Given the description of an element on the screen output the (x, y) to click on. 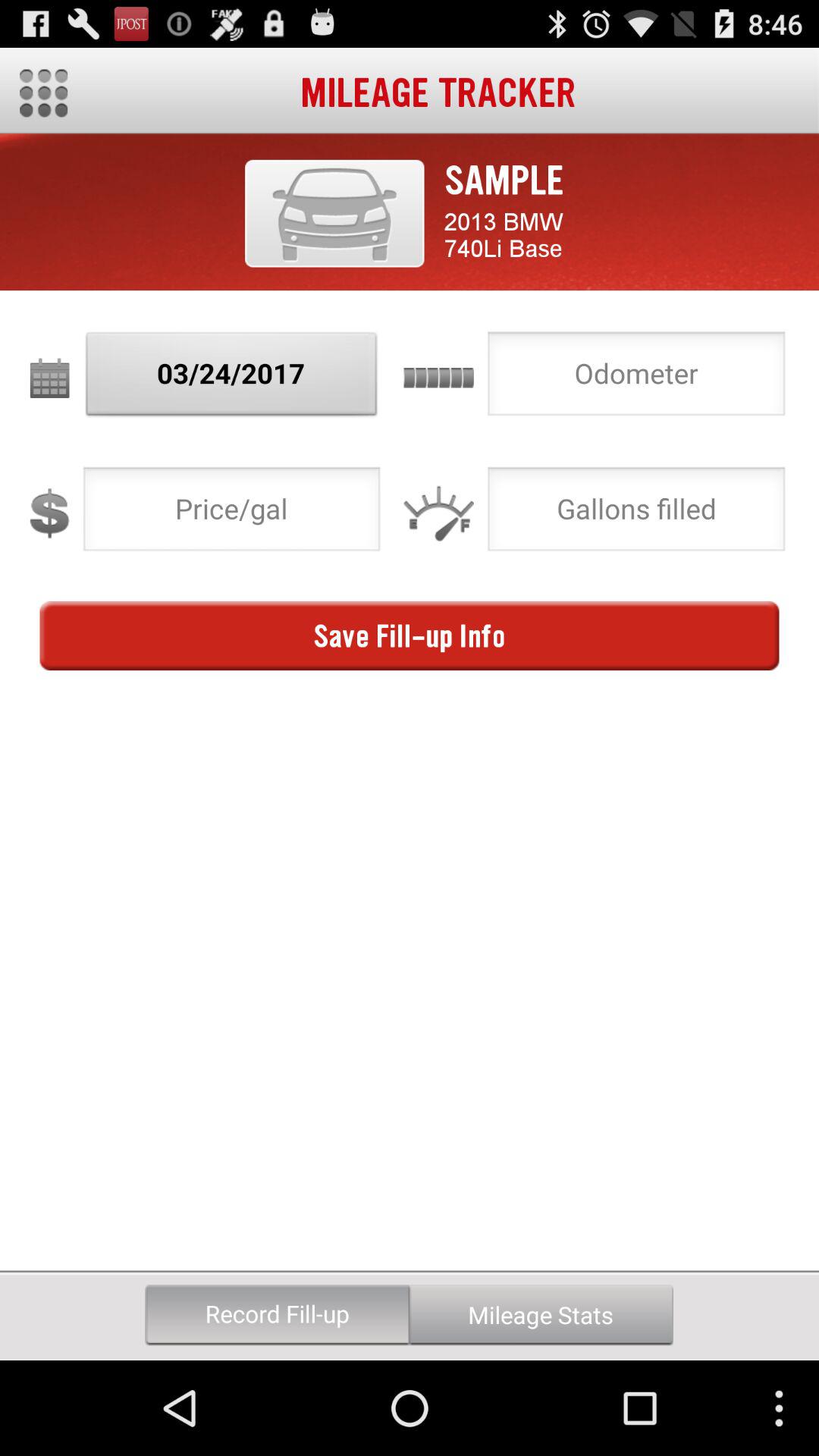
turn on the 03/24/2017 button (231, 377)
